Given the description of an element on the screen output the (x, y) to click on. 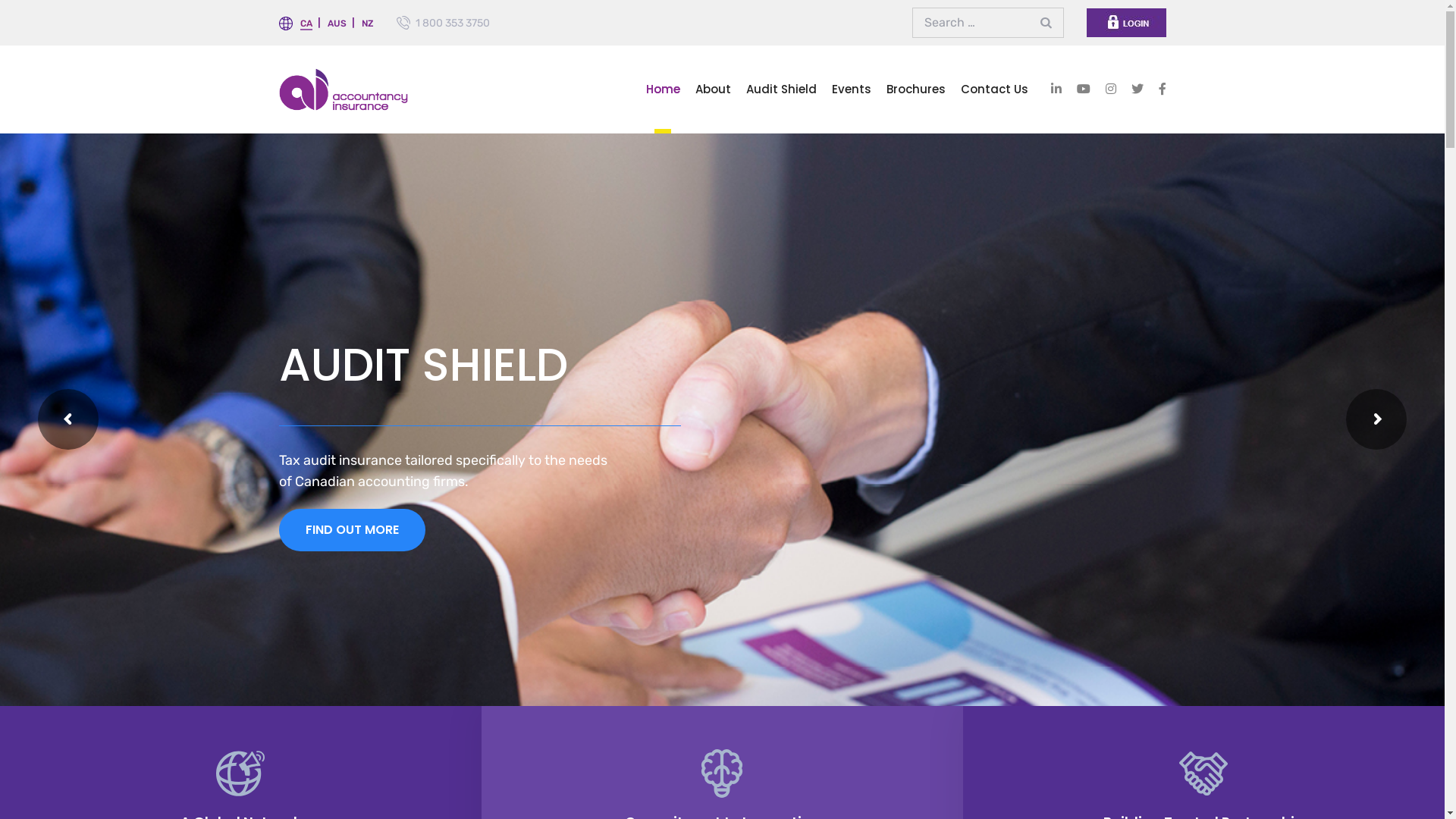
AUS Element type: text (336, 23)
Events Element type: text (850, 89)
CA Element type: text (306, 24)
Home Element type: text (663, 89)
Brochures Element type: text (914, 89)
Search Element type: text (1048, 22)
Audit Shield Element type: text (781, 89)
Contact Us Element type: text (993, 89)
About Element type: text (712, 89)
NZ Element type: text (366, 23)
1 800 353 3750 Element type: text (452, 22)
